Given the description of an element on the screen output the (x, y) to click on. 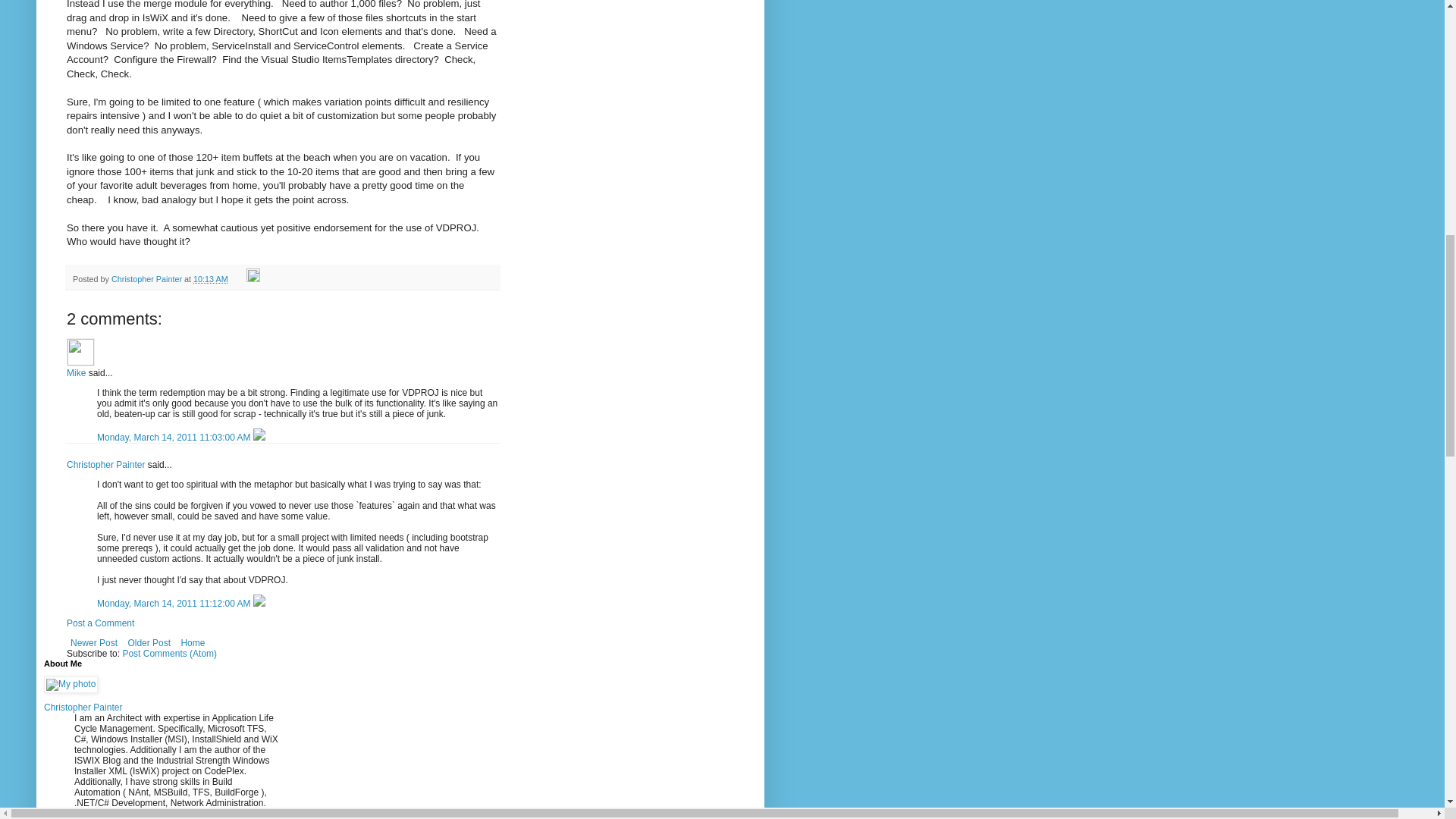
Email Post (238, 278)
Older Post (148, 642)
Older Post (148, 642)
Delete Comment (258, 603)
Monday, March 14, 2011 11:12:00 AM (175, 603)
Monday, March 14, 2011 11:03:00 AM (175, 437)
Home (192, 642)
Mike (80, 352)
10:13 AM (210, 278)
Edit Post (253, 278)
Newer Post (93, 642)
Christopher Painter (105, 464)
comment permalink (175, 437)
Christopher Painter (148, 278)
Post a Comment (99, 623)
